Given the description of an element on the screen output the (x, y) to click on. 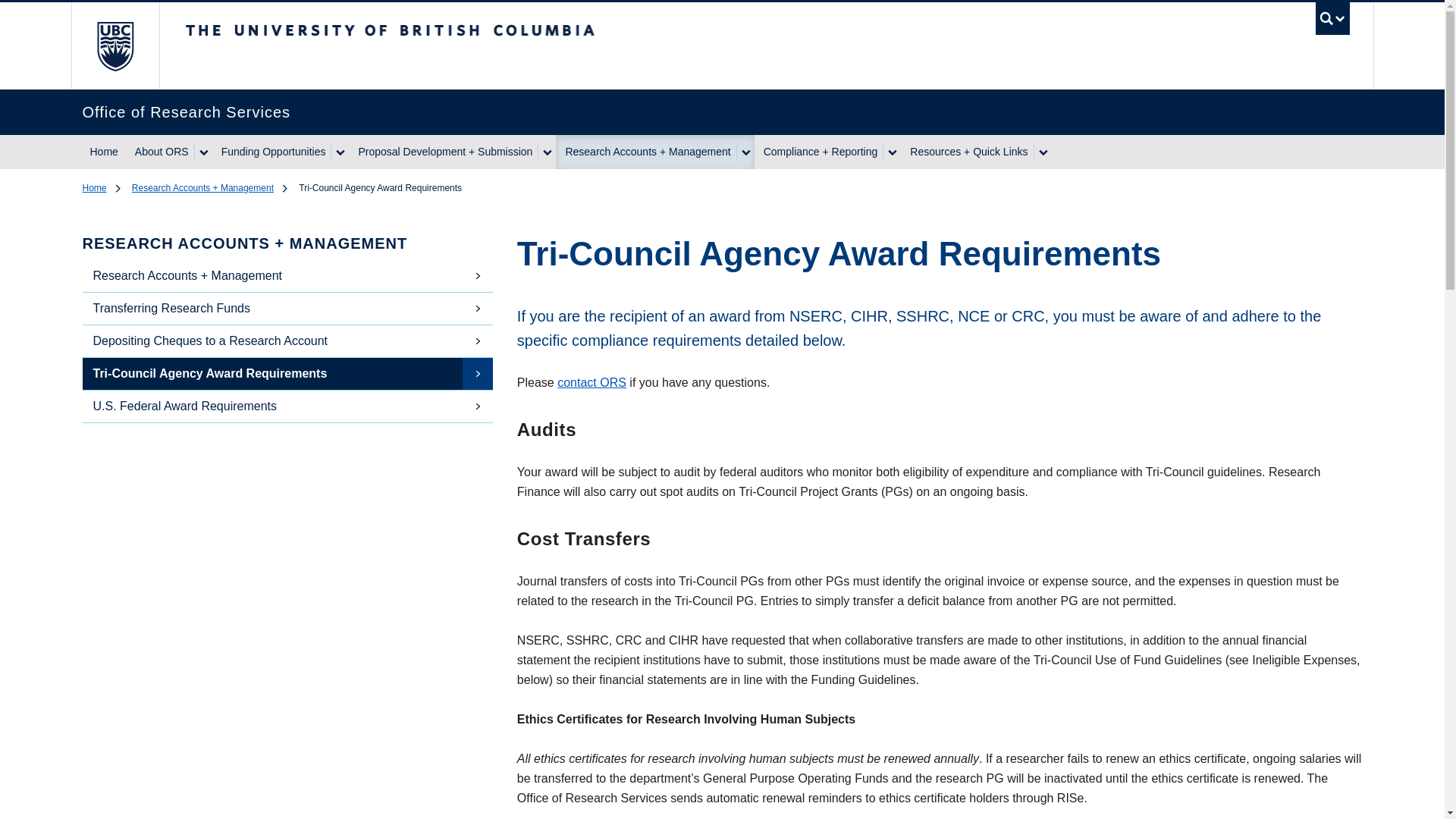
Office of Research Services (700, 112)
About ORS (159, 151)
The University of British Columbia (114, 45)
Home (103, 151)
UBC Search (1331, 21)
Funding Opportunities (271, 151)
The University of British Columbia (517, 37)
